Given the description of an element on the screen output the (x, y) to click on. 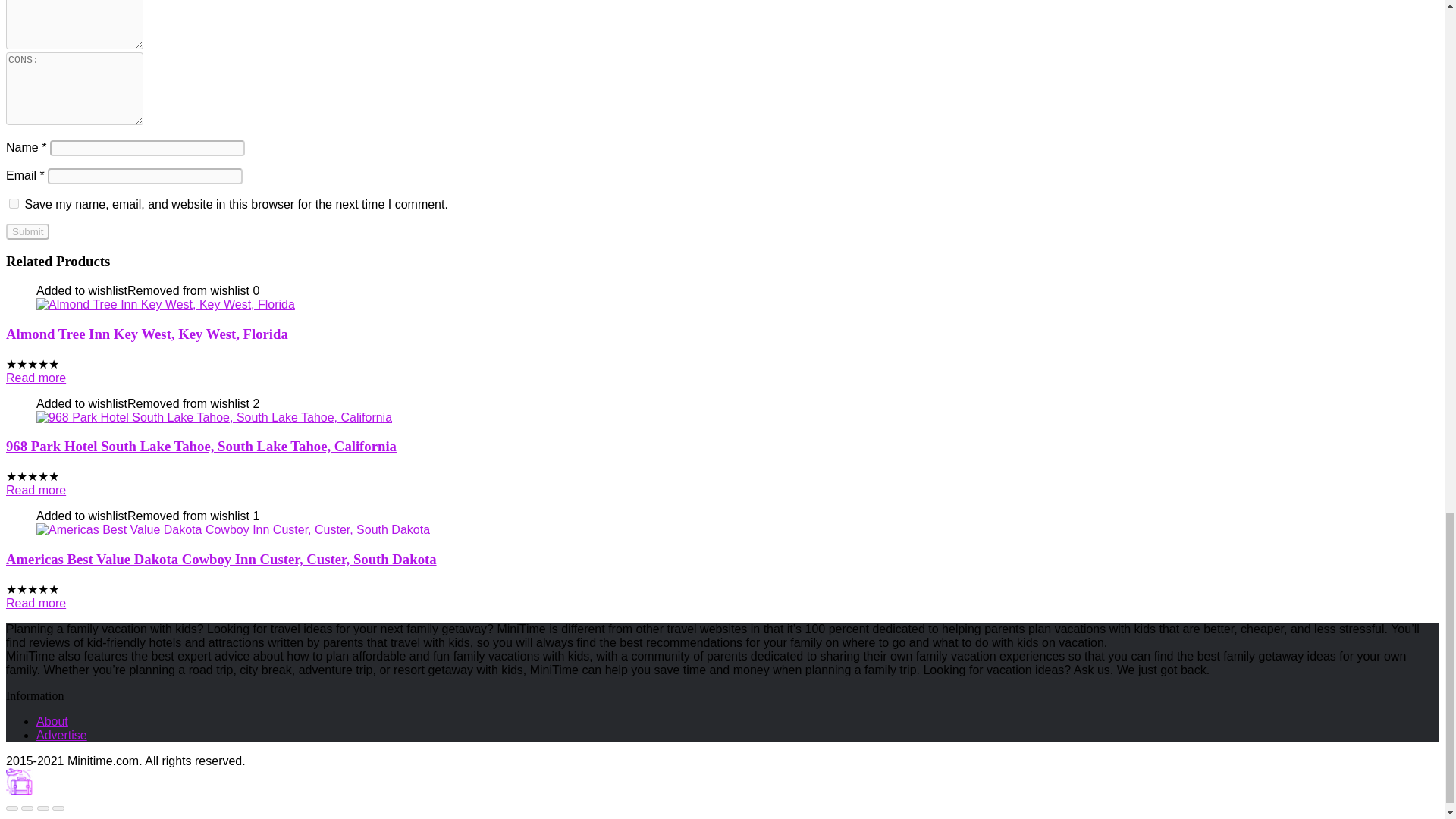
Submit (27, 231)
Almond Tree Inn Key West, Key West, Florida (146, 333)
Read more (35, 490)
Submit (27, 231)
Read more (35, 377)
yes (13, 203)
